Given the description of an element on the screen output the (x, y) to click on. 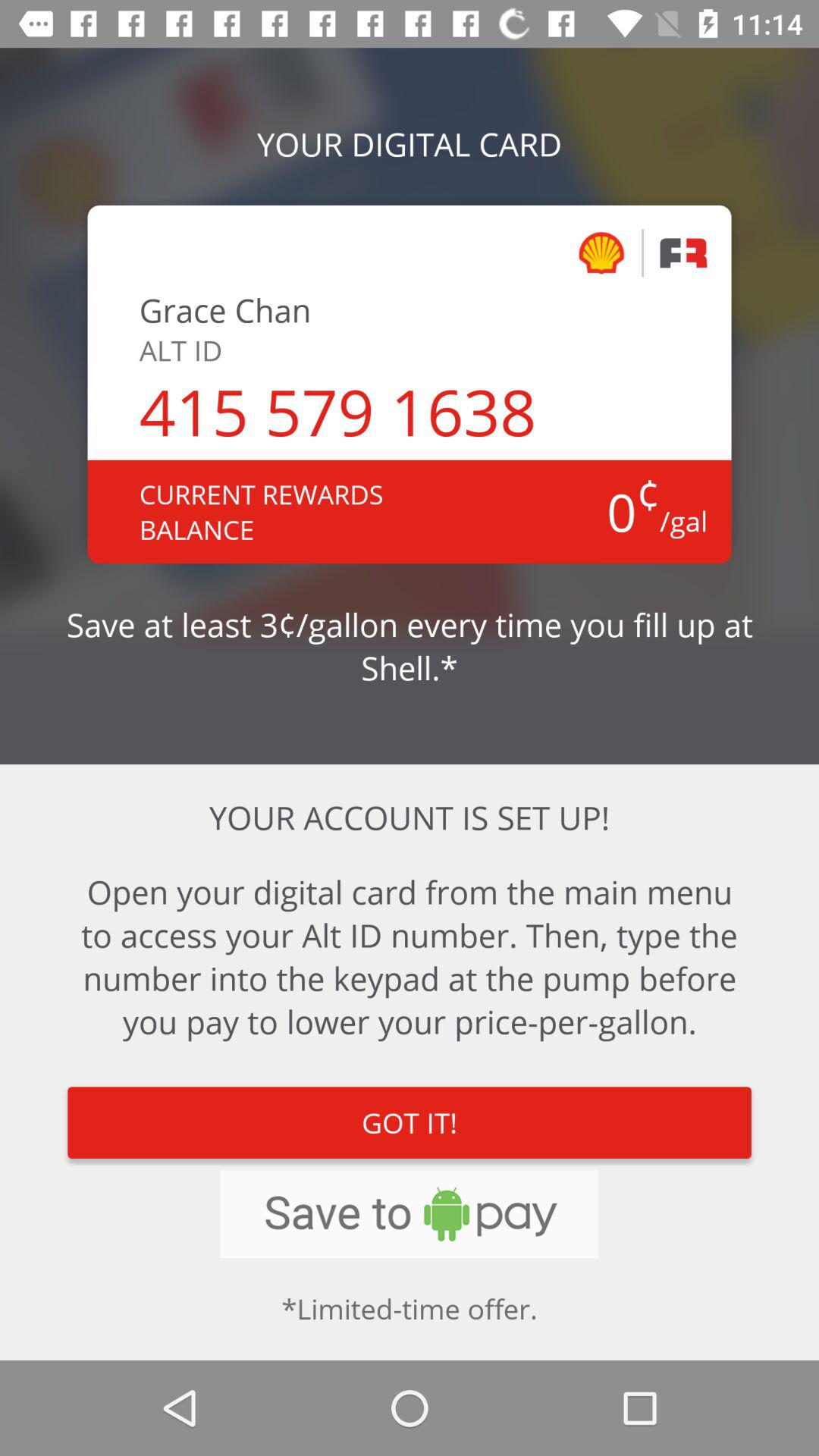
turn off the got it! (409, 1122)
